Given the description of an element on the screen output the (x, y) to click on. 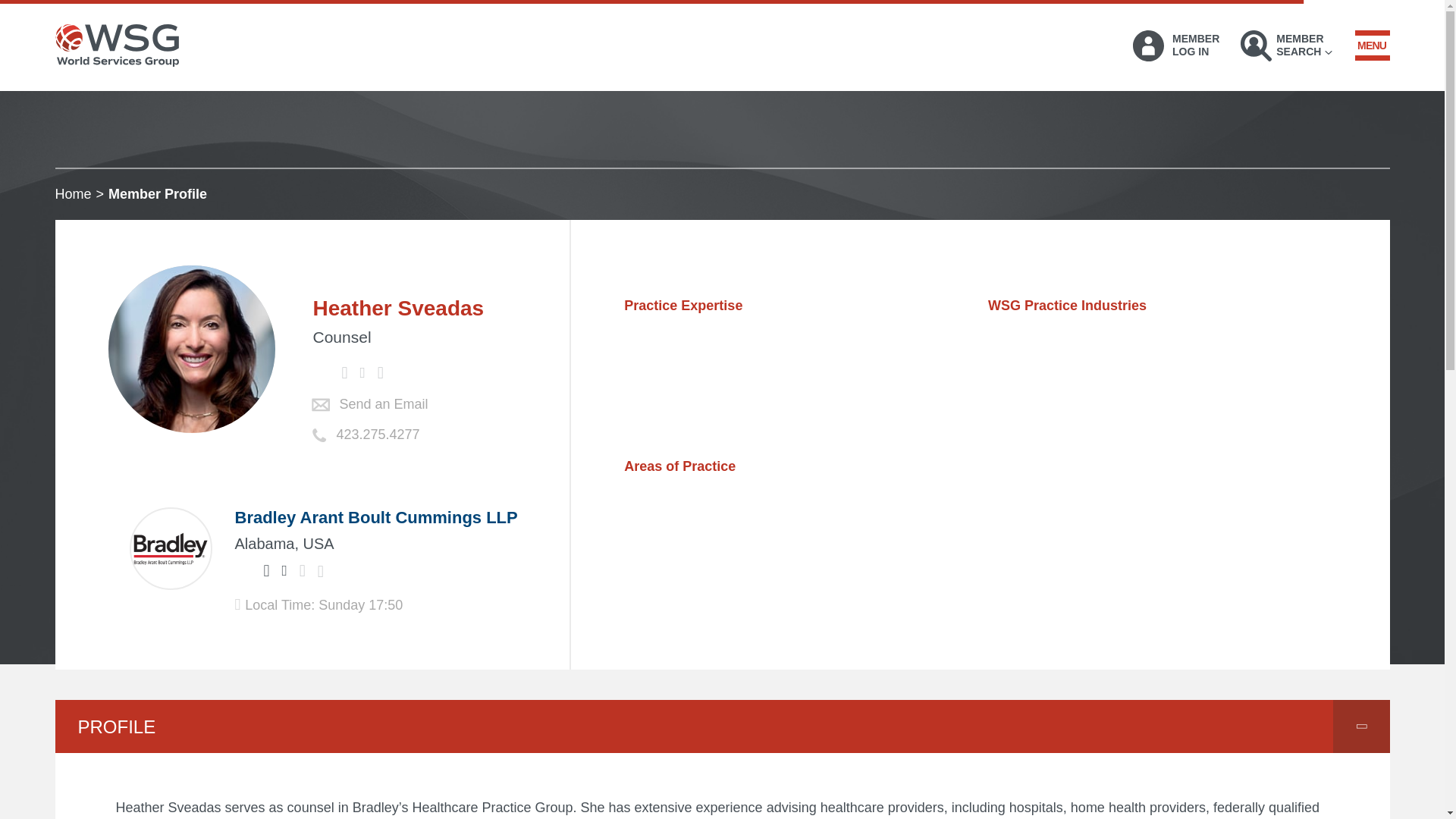
Bradley Arant Boult Cummings LLP (1286, 45)
Twitter (376, 517)
Home (242, 570)
423.275.4277 (72, 193)
Send an Email (378, 434)
MENU (383, 404)
Twitter (1176, 45)
Toggle Menu (1371, 45)
